Given the description of an element on the screen output the (x, y) to click on. 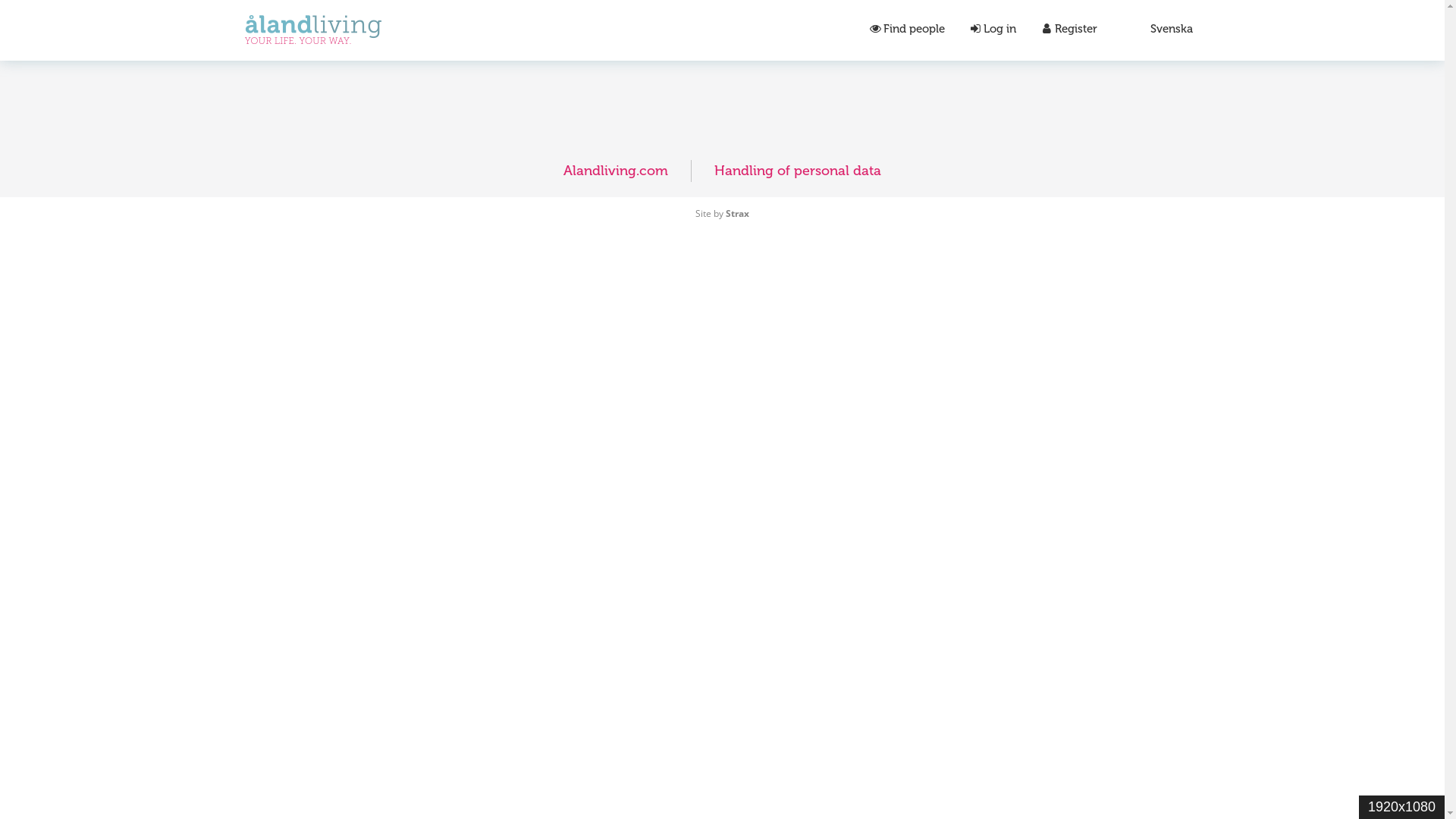
Alandliving.com Element type: text (615, 170)
Svenska Element type: text (1170, 29)
Log in Element type: text (991, 30)
Strax Element type: text (737, 213)
Register Element type: text (1067, 30)
Find people Element type: text (905, 30)
Skip to main content Element type: text (640, 0)
Handling of personal data Element type: text (797, 170)
